Given the description of an element on the screen output the (x, y) to click on. 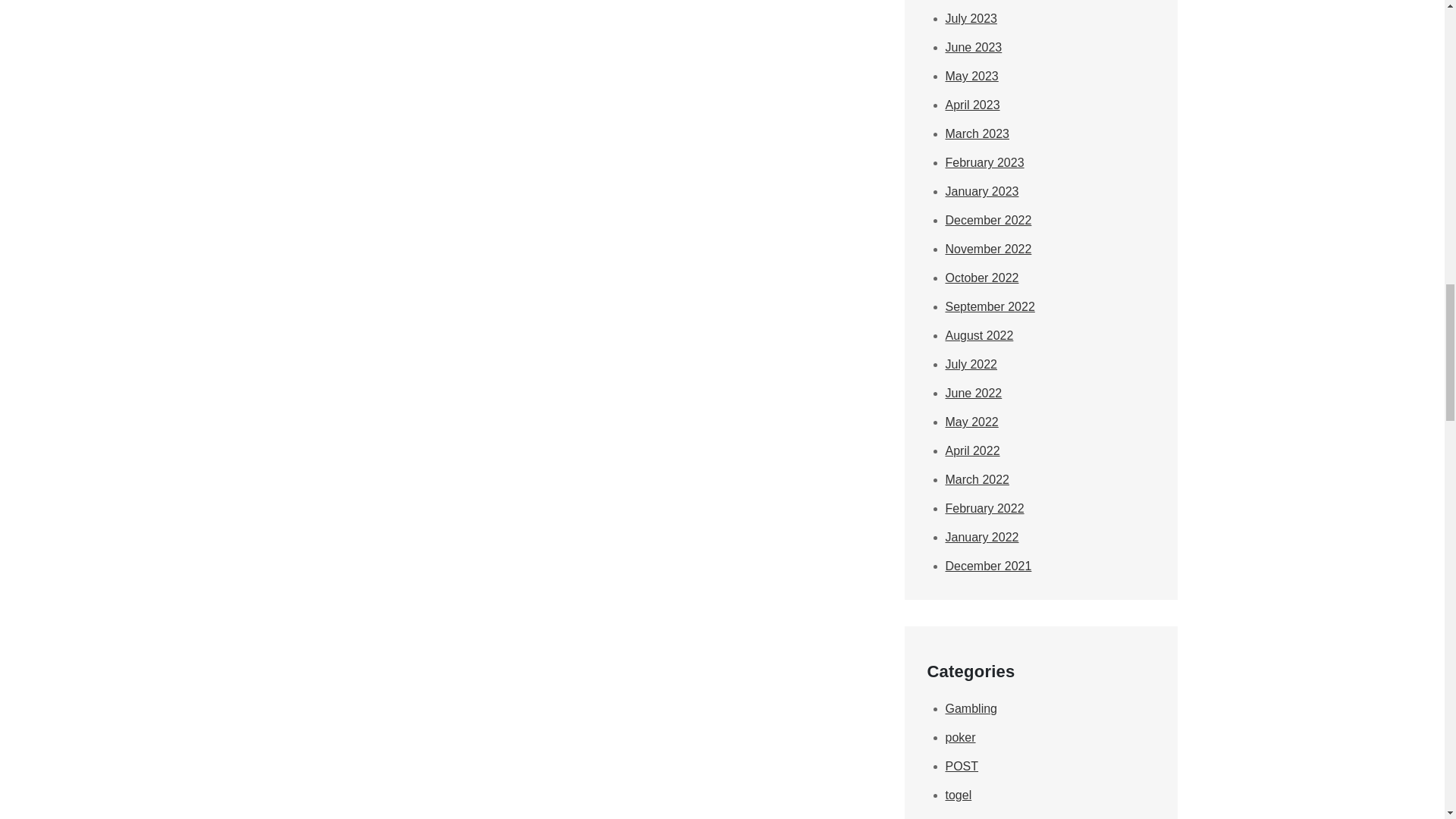
April 2023 (971, 104)
March 2023 (976, 133)
November 2022 (987, 248)
January 2023 (980, 191)
February 2023 (983, 162)
October 2022 (980, 277)
June 2023 (972, 47)
July 2023 (970, 18)
December 2022 (987, 219)
May 2023 (970, 75)
